Given the description of an element on the screen output the (x, y) to click on. 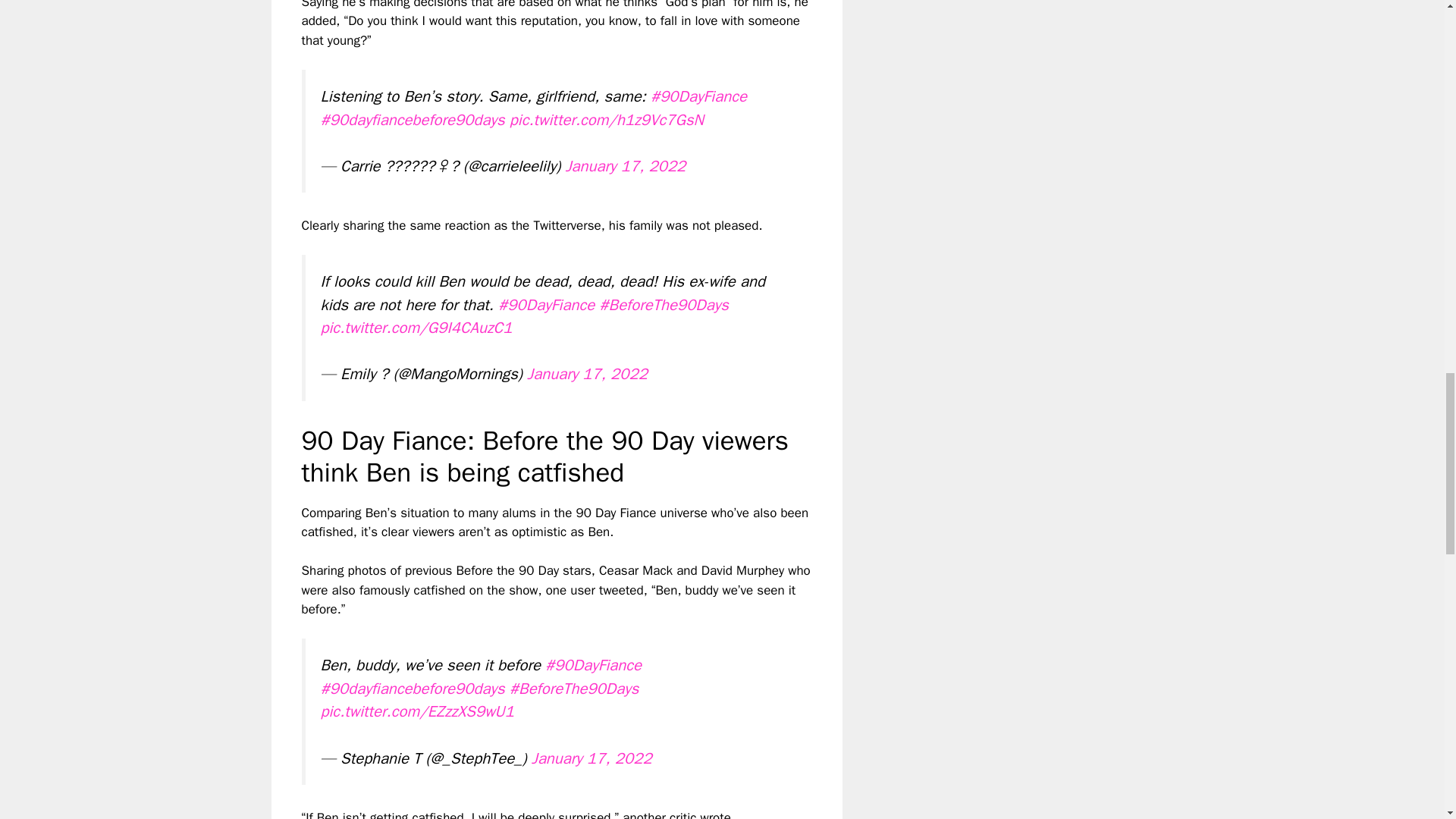
January 17, 2022 (624, 166)
January 17, 2022 (591, 758)
January 17, 2022 (587, 373)
